Given the description of an element on the screen output the (x, y) to click on. 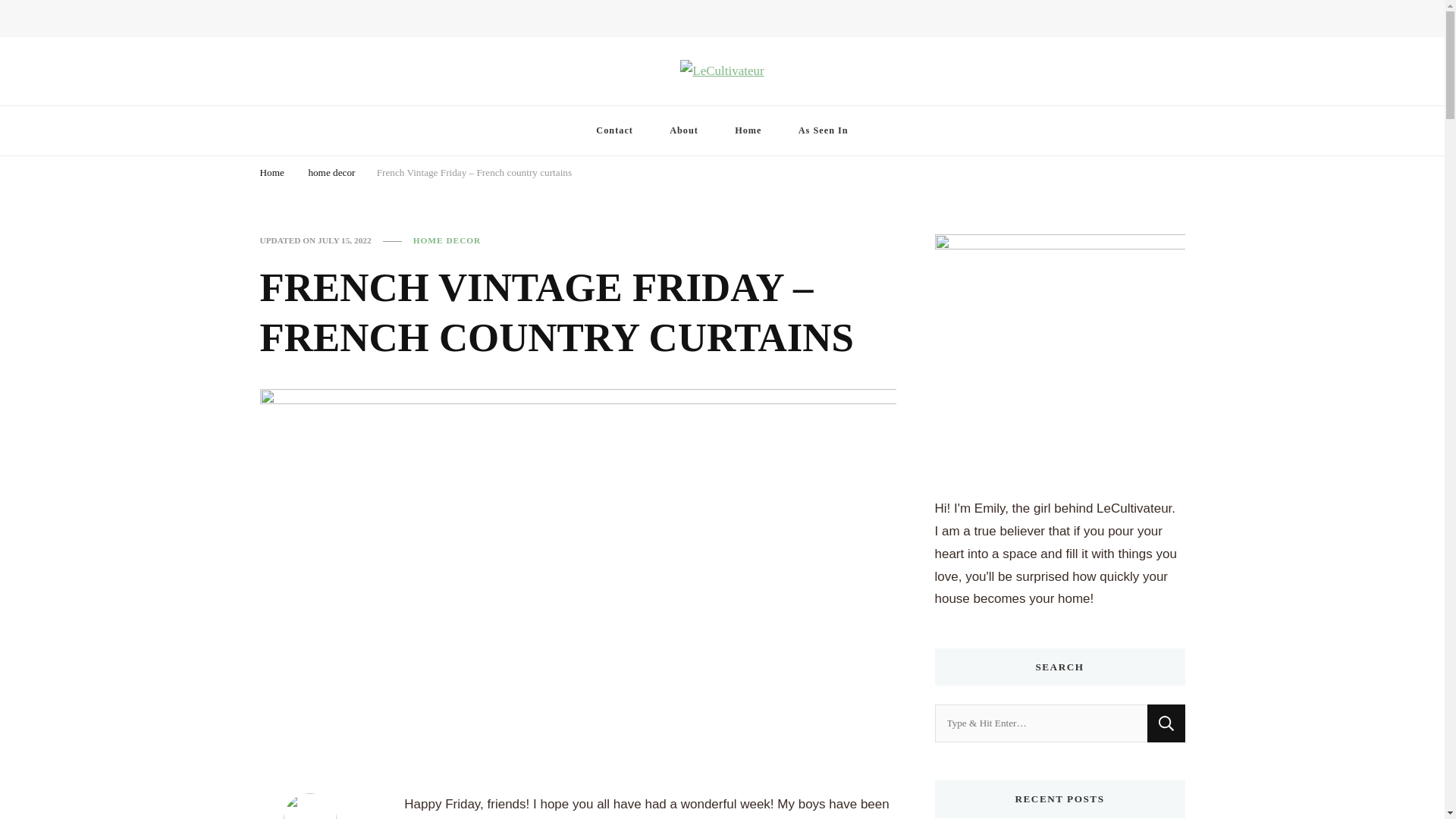
About (683, 130)
As Seen In (822, 130)
LeCultivateur (324, 95)
Contact (614, 130)
HOME DECOR (447, 240)
Search (1166, 723)
Home (271, 173)
home decor (331, 173)
Home (747, 130)
JULY 15, 2022 (344, 240)
